Given the description of an element on the screen output the (x, y) to click on. 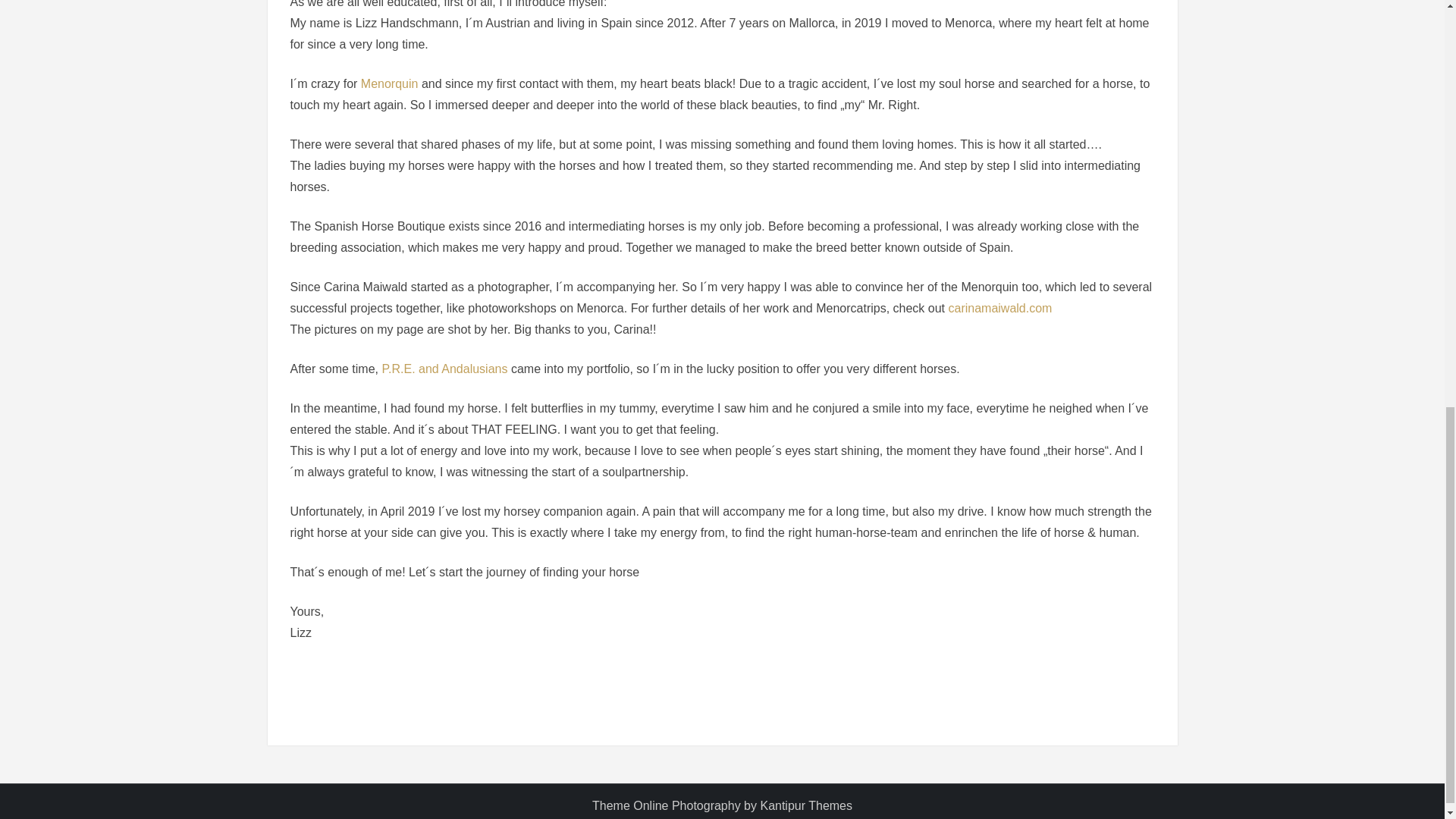
Menorquin (390, 83)
carinamaiwald.com (999, 308)
Kantipur Themes (805, 805)
P.R.E. and Andalusians (443, 368)
